Given the description of an element on the screen output the (x, y) to click on. 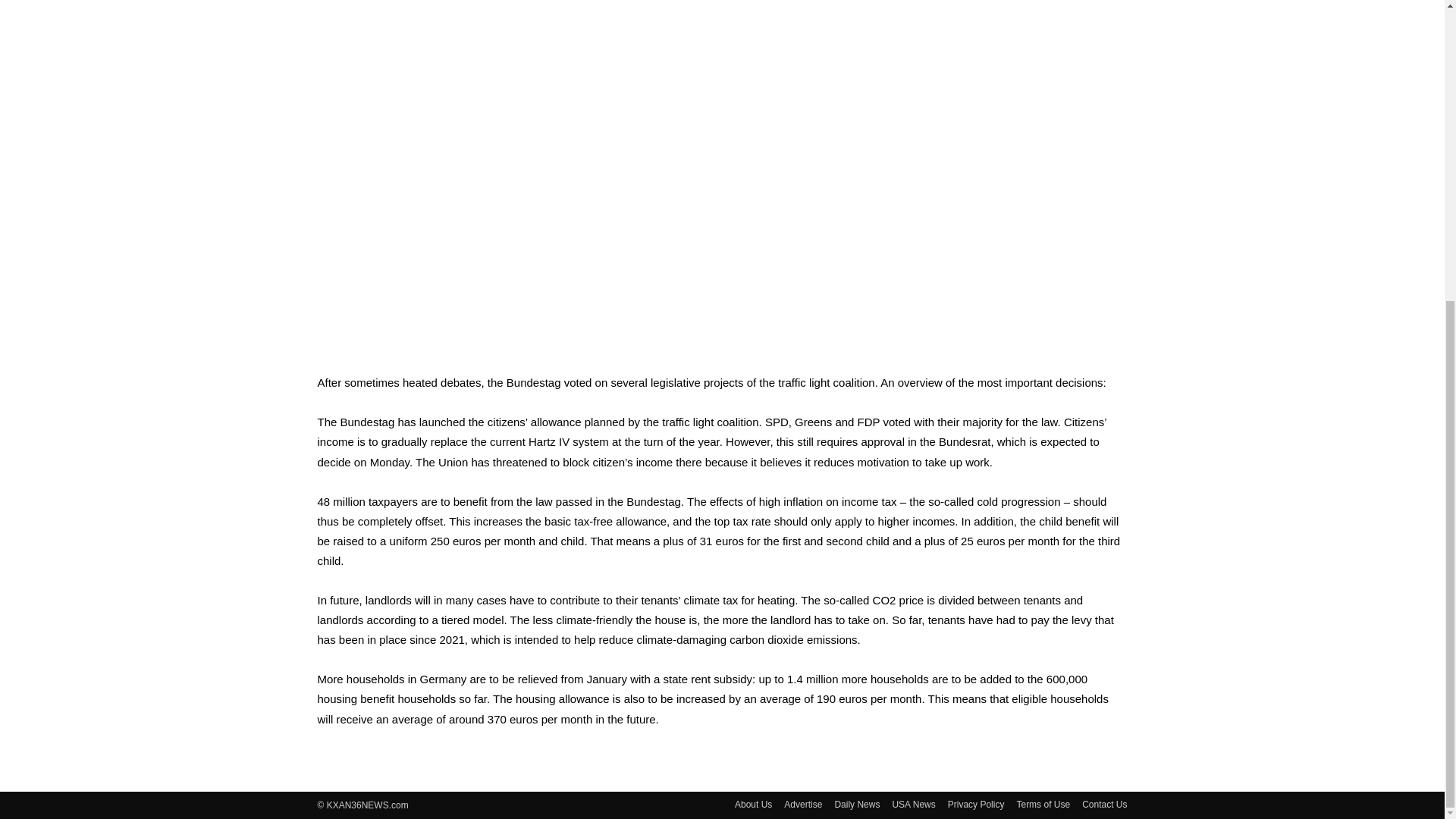
Daily News (856, 804)
Terms of Use (1043, 804)
USA News (912, 804)
About Us (753, 804)
Privacy Policy (975, 804)
Advertise (803, 804)
Contact Us (1103, 804)
